Given the description of an element on the screen output the (x, y) to click on. 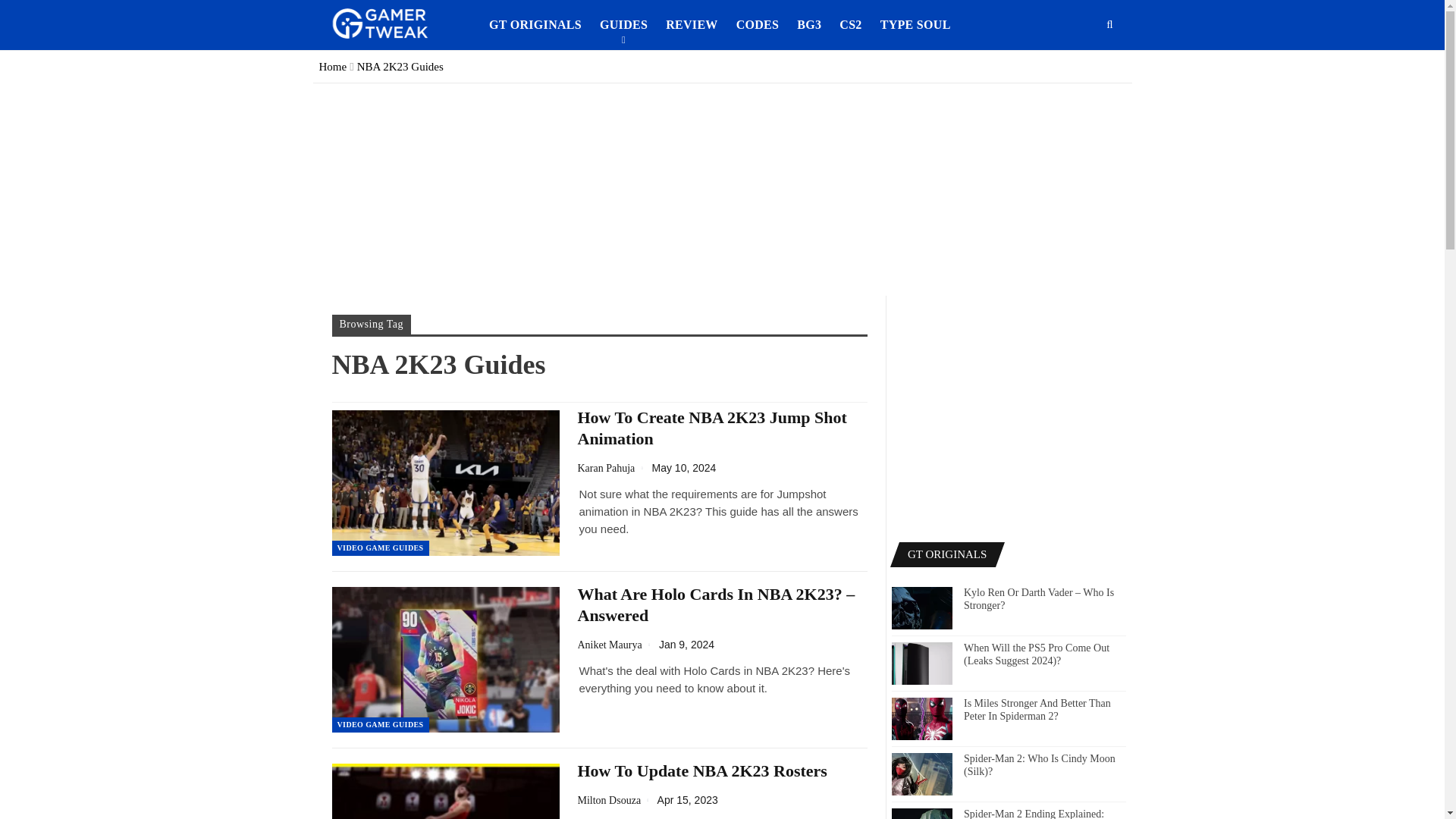
TYPE SOUL (914, 24)
How To Update NBA 2K23 Rosters (702, 770)
CODES (757, 24)
VIDEO GAME GUIDES (380, 724)
GT ORIGINALS (535, 24)
Home (332, 66)
VIDEO GAME GUIDES (380, 548)
How To Create NBA 2K23 Jump Shot Animation (712, 427)
GUIDES (623, 24)
Milton Dsouza (618, 799)
Browse Author Articles (618, 799)
How To Create NBA 2K23 Jump Shot Animation (445, 483)
Browse Author Articles (615, 467)
REVIEW (691, 24)
